Given the description of an element on the screen output the (x, y) to click on. 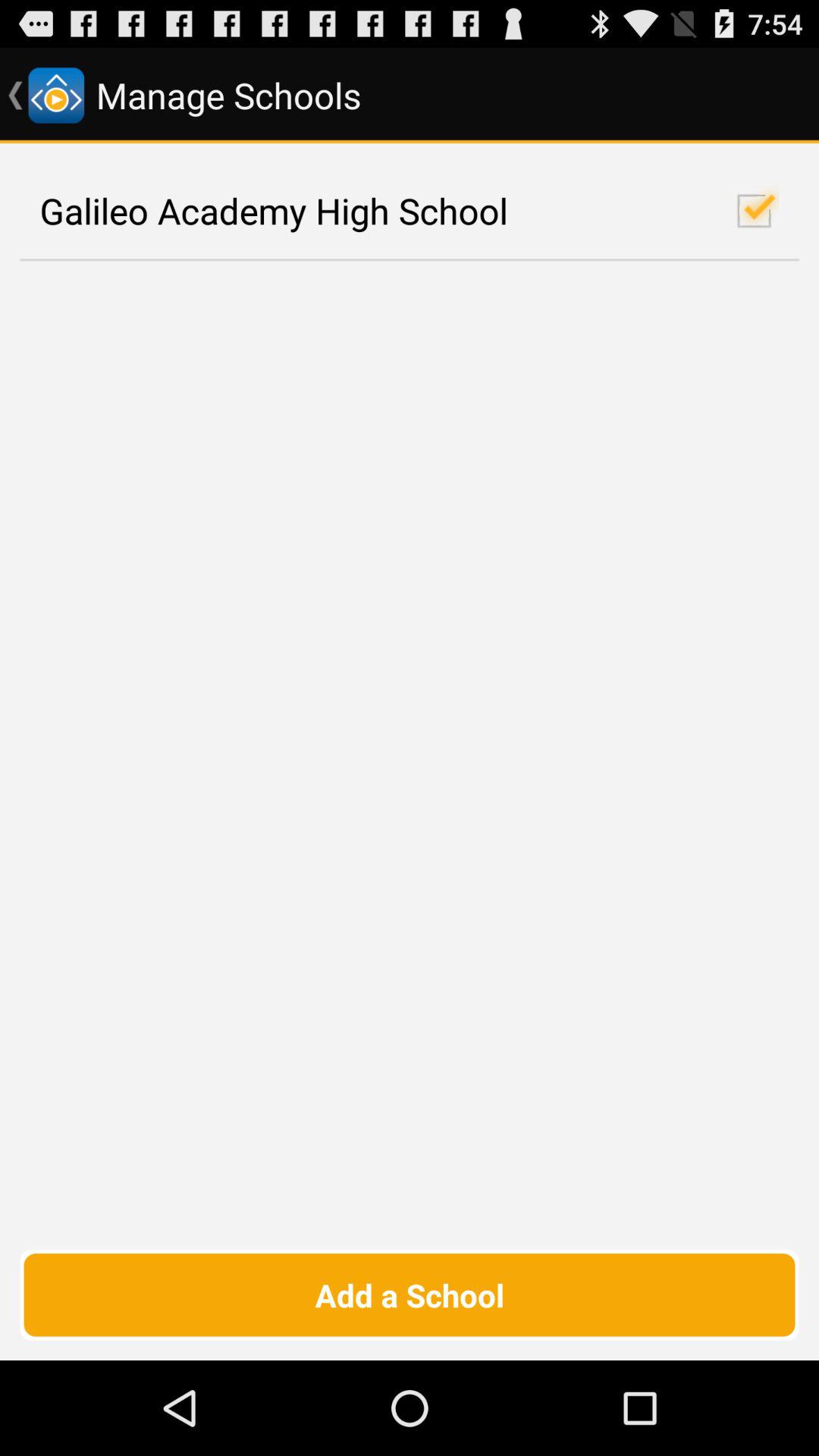
open the icon at the bottom (409, 1294)
